Given the description of an element on the screen output the (x, y) to click on. 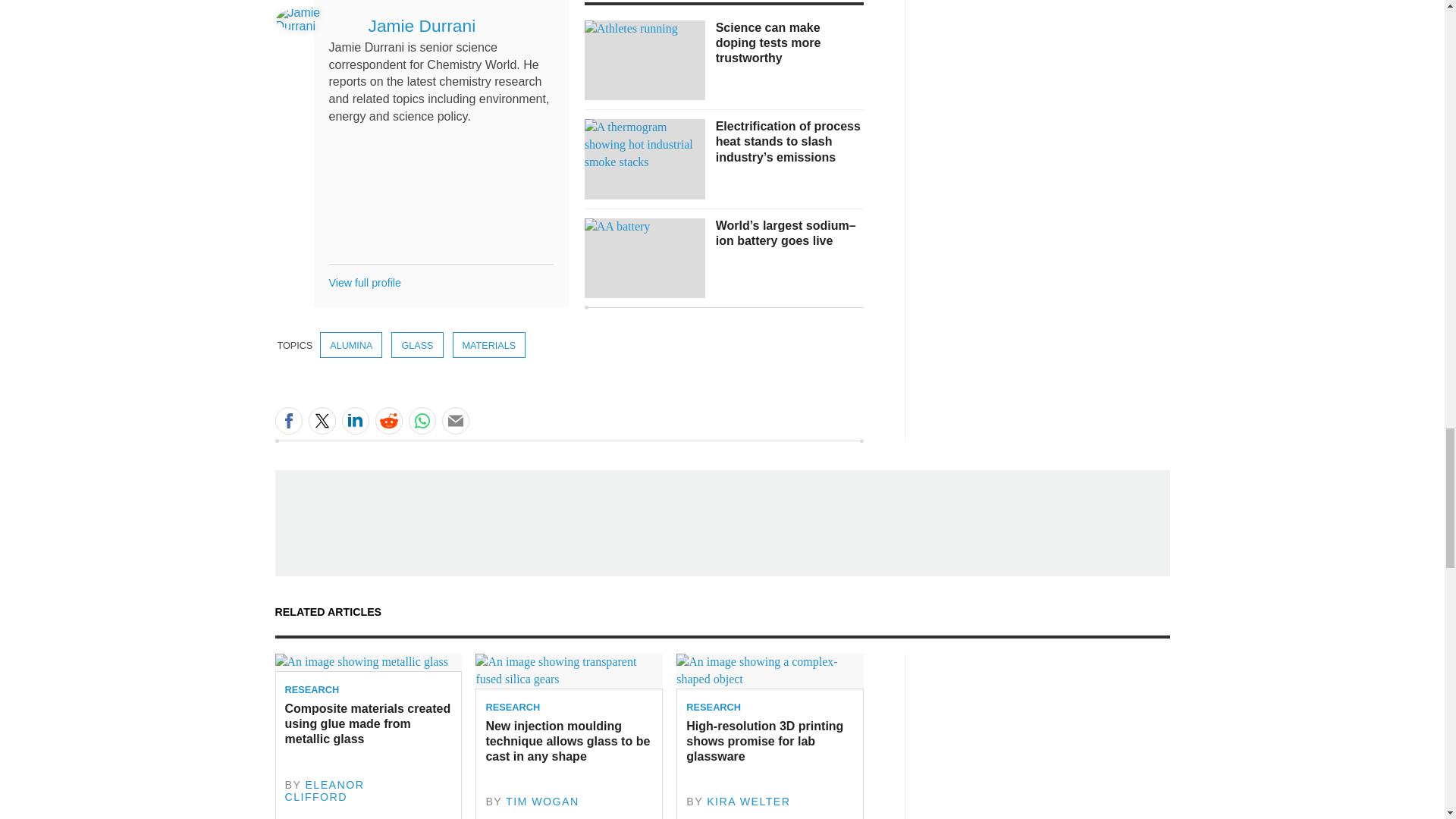
Share this on WhatsApp (421, 420)
Share this by email (454, 420)
Share this on LinkedIn (354, 420)
Share this on Reddit (387, 420)
Share this on Facebook (288, 420)
